Given the description of an element on the screen output the (x, y) to click on. 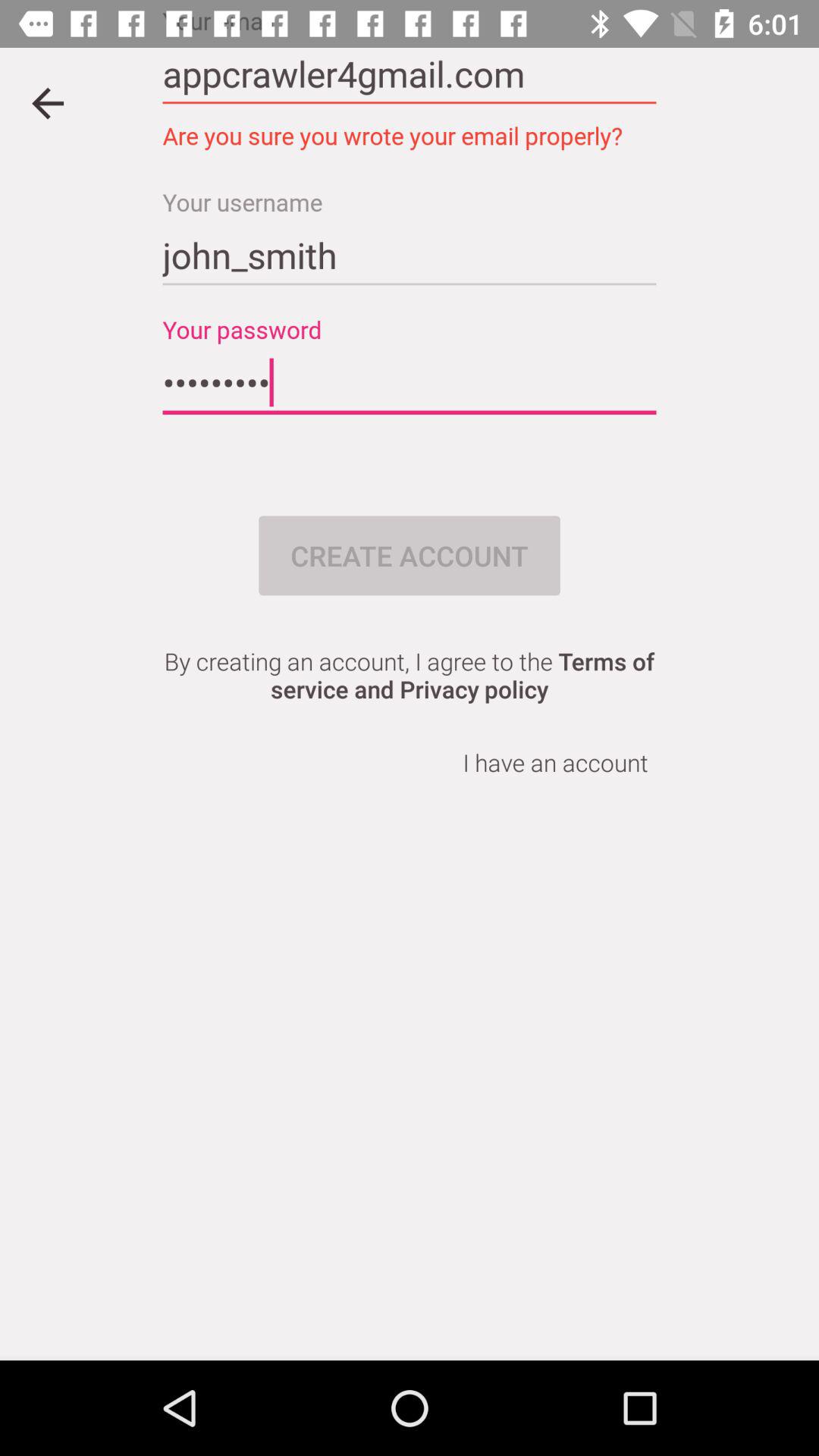
back button (47, 103)
